Given the description of an element on the screen output the (x, y) to click on. 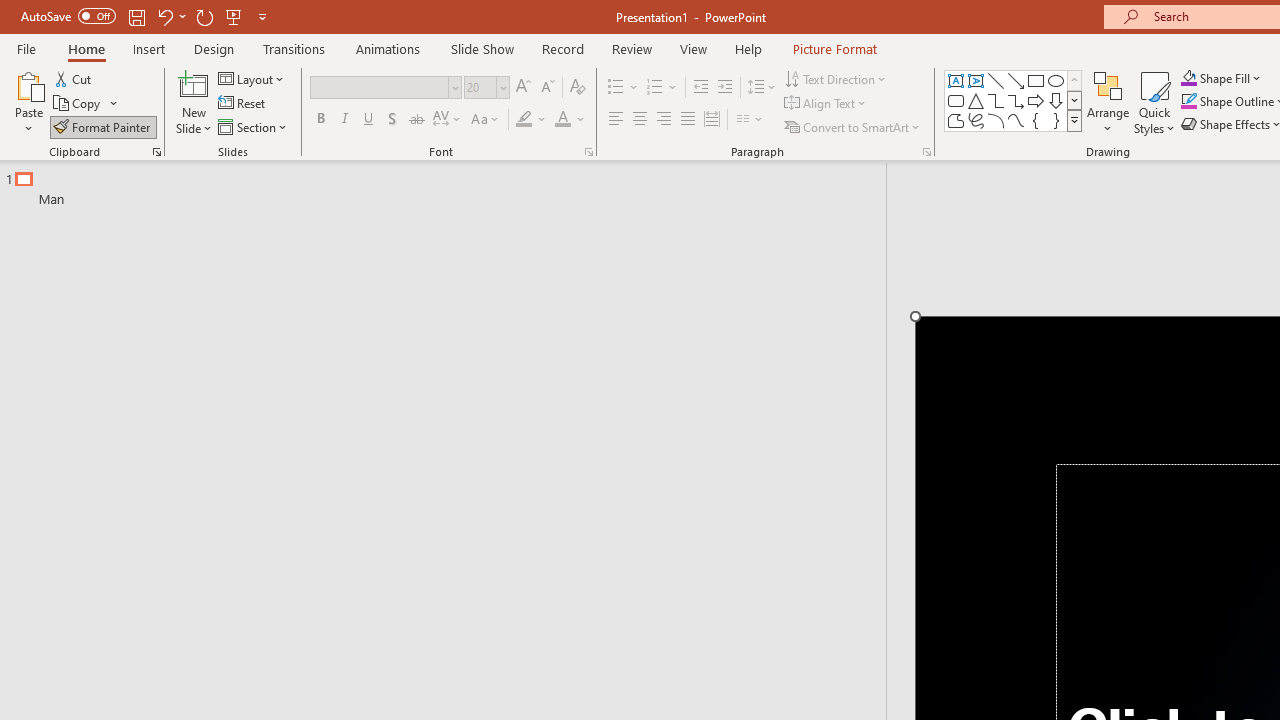
Align Text (826, 103)
Text Highlight Color (531, 119)
Bold (320, 119)
Paste (28, 84)
Text Box (955, 80)
Arrow: Right (1035, 100)
Character Spacing (447, 119)
Picture Format (834, 48)
Font... (588, 151)
Connector: Elbow Arrow (1016, 100)
